Given the description of an element on the screen output the (x, y) to click on. 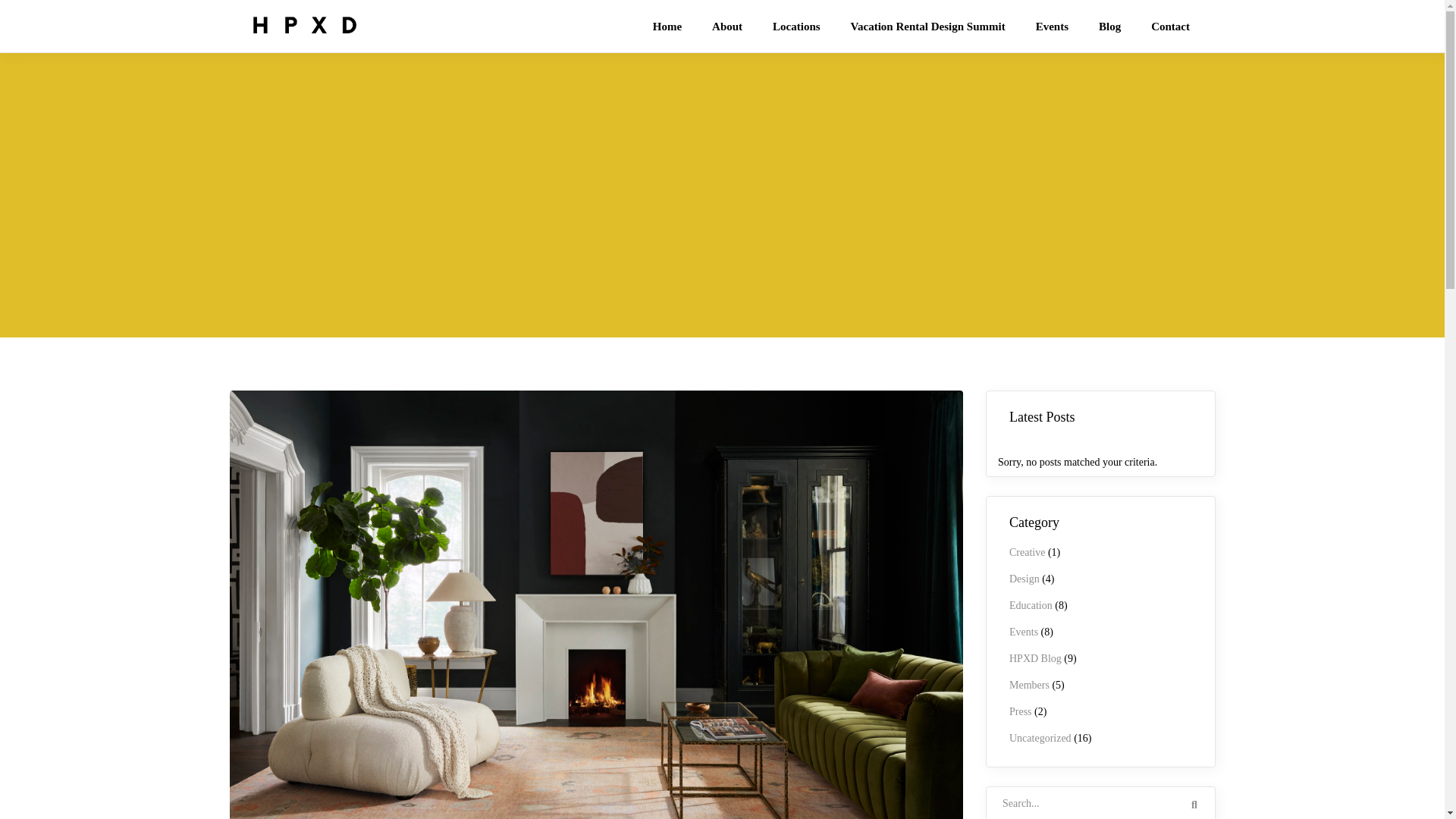
About (727, 26)
Locations (796, 26)
Search for: (1100, 802)
Home (667, 26)
